Given the description of an element on the screen output the (x, y) to click on. 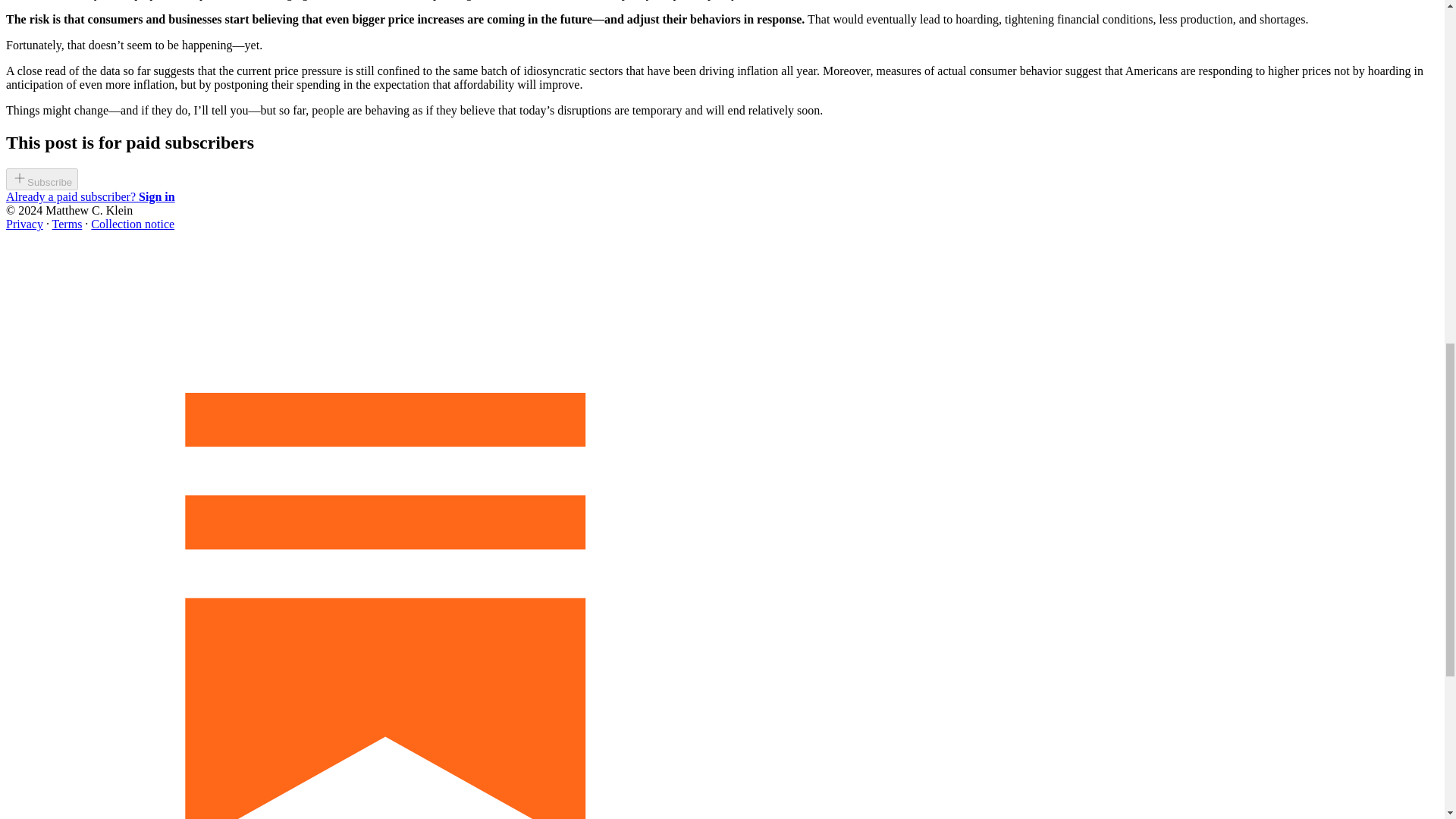
Collection notice (132, 223)
Already a paid subscriber? Sign in (89, 196)
Subscribe (41, 181)
Subscribe (41, 179)
Terms (67, 223)
Privacy (24, 223)
